Given the description of an element on the screen output the (x, y) to click on. 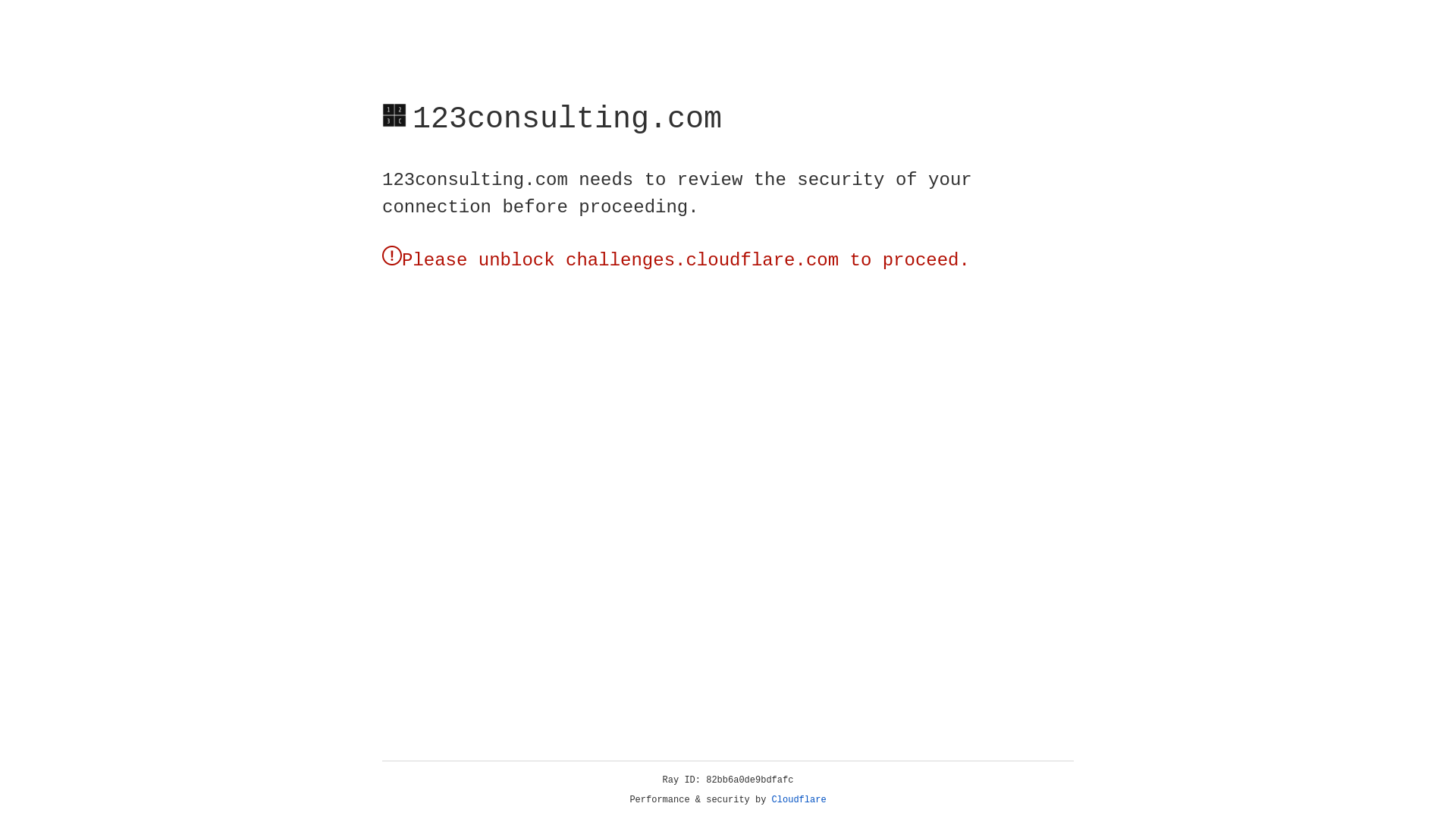
Cloudflare Element type: text (798, 799)
